Given the description of an element on the screen output the (x, y) to click on. 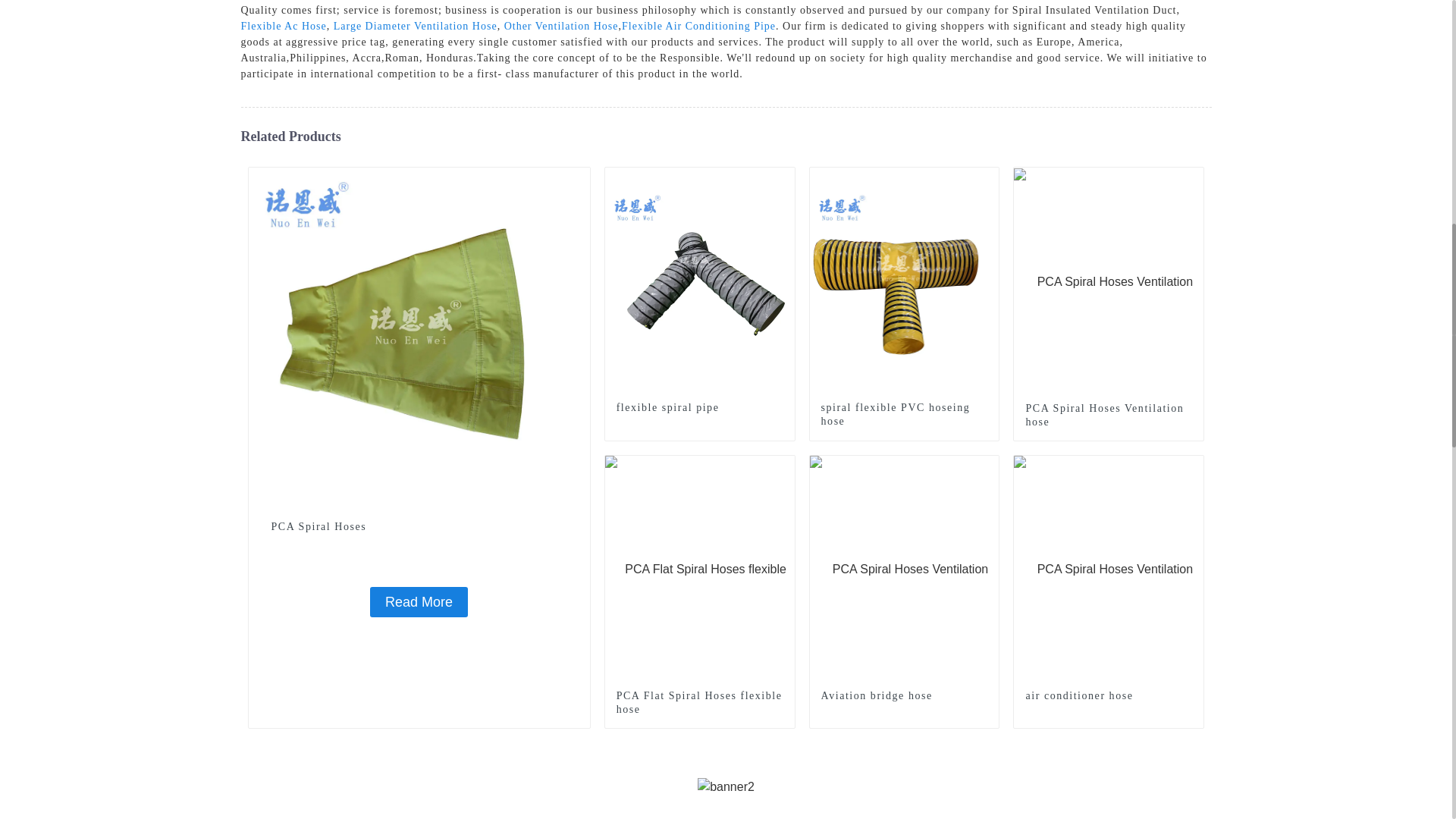
PCA Spiral Hoses (418, 336)
PCA Flat Spiral Hoses flexible hose (699, 568)
PCA Spiral Hoses Ventilation hose (1108, 280)
Large Diameter Ventilation Hose (415, 25)
flexible spiral pipe (699, 280)
PCA Spiral Hoses (418, 526)
spiral flexible PVC hoseing hose (903, 280)
spiral flexible PVC hoseing hose (904, 414)
flexible spiral pipe (699, 407)
PCA Spiral Hoses (418, 602)
